Given the description of an element on the screen output the (x, y) to click on. 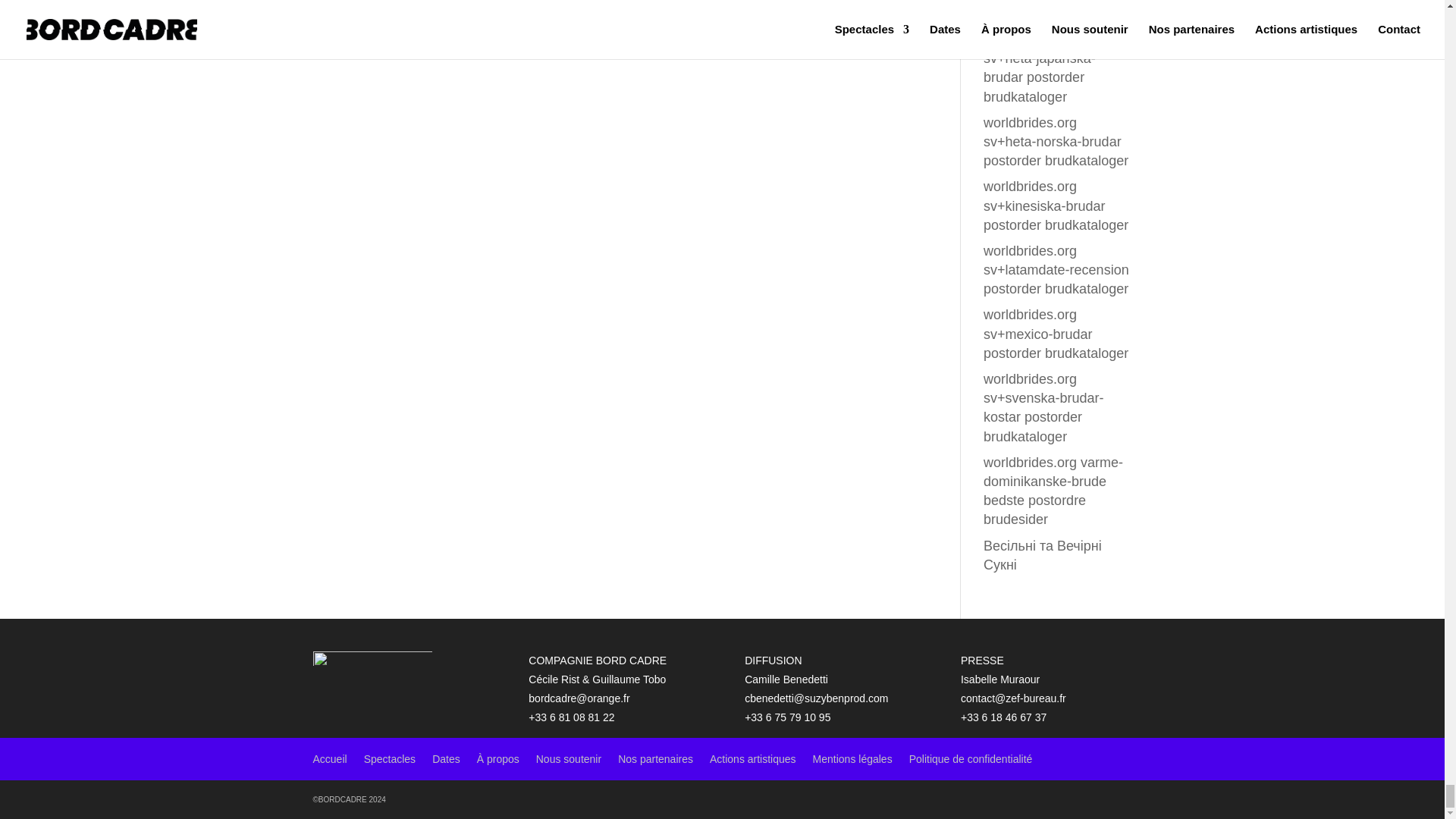
Logo-blanc (372, 658)
